Given the description of an element on the screen output the (x, y) to click on. 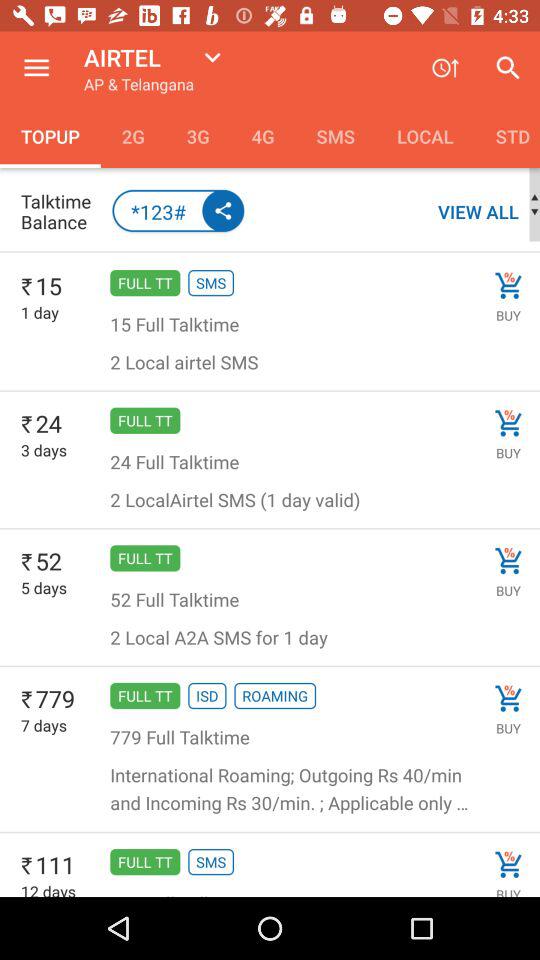
turn off 3g item (197, 136)
